Given the description of an element on the screen output the (x, y) to click on. 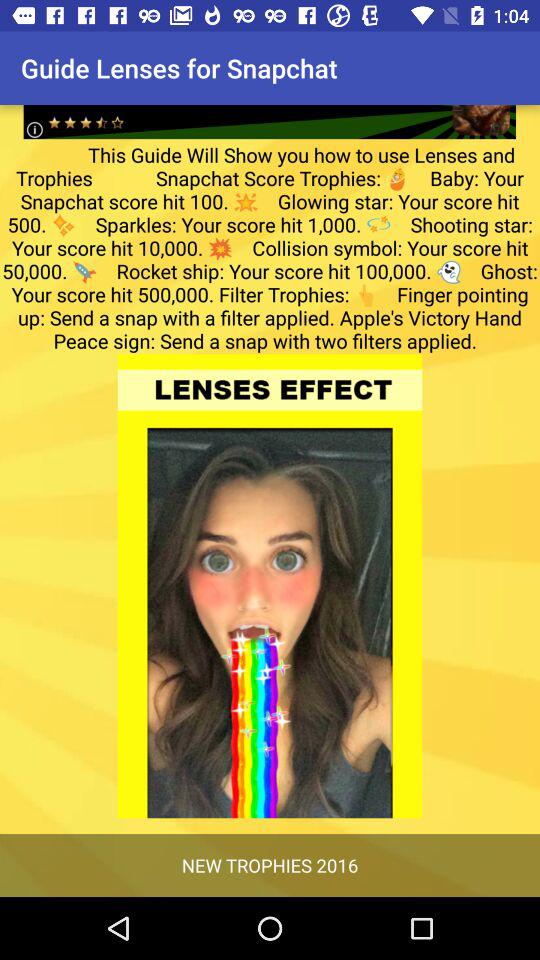
select advertisement (269, 106)
